Given the description of an element on the screen output the (x, y) to click on. 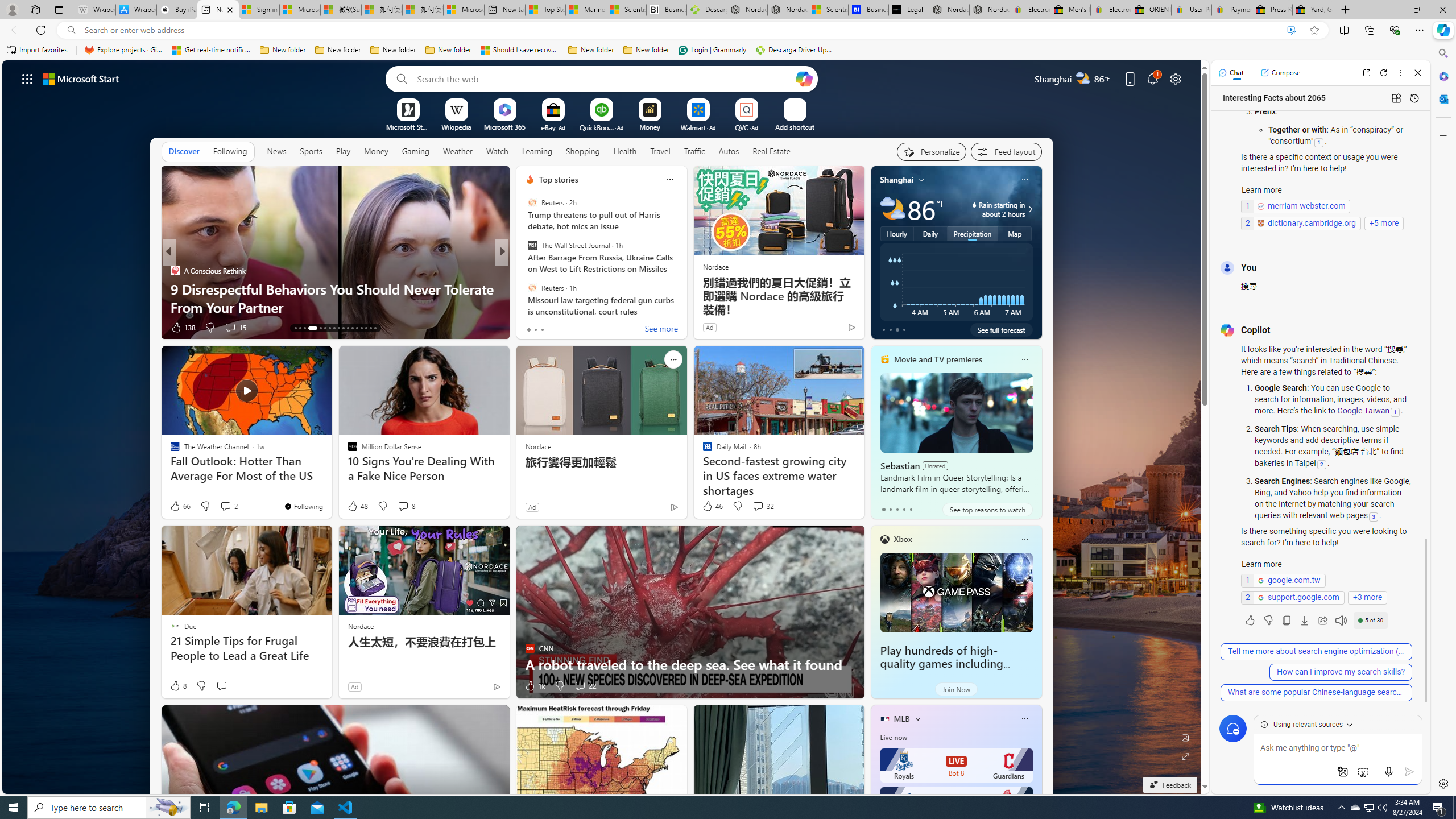
AutomationID: backgroundImagePicture (601, 426)
AutomationID: tab-14 (299, 328)
AutomationID: tab-15 (304, 328)
Partly cloudy (892, 208)
Daily (929, 233)
Favorites bar (715, 49)
My location (921, 179)
